Given the description of an element on the screen output the (x, y) to click on. 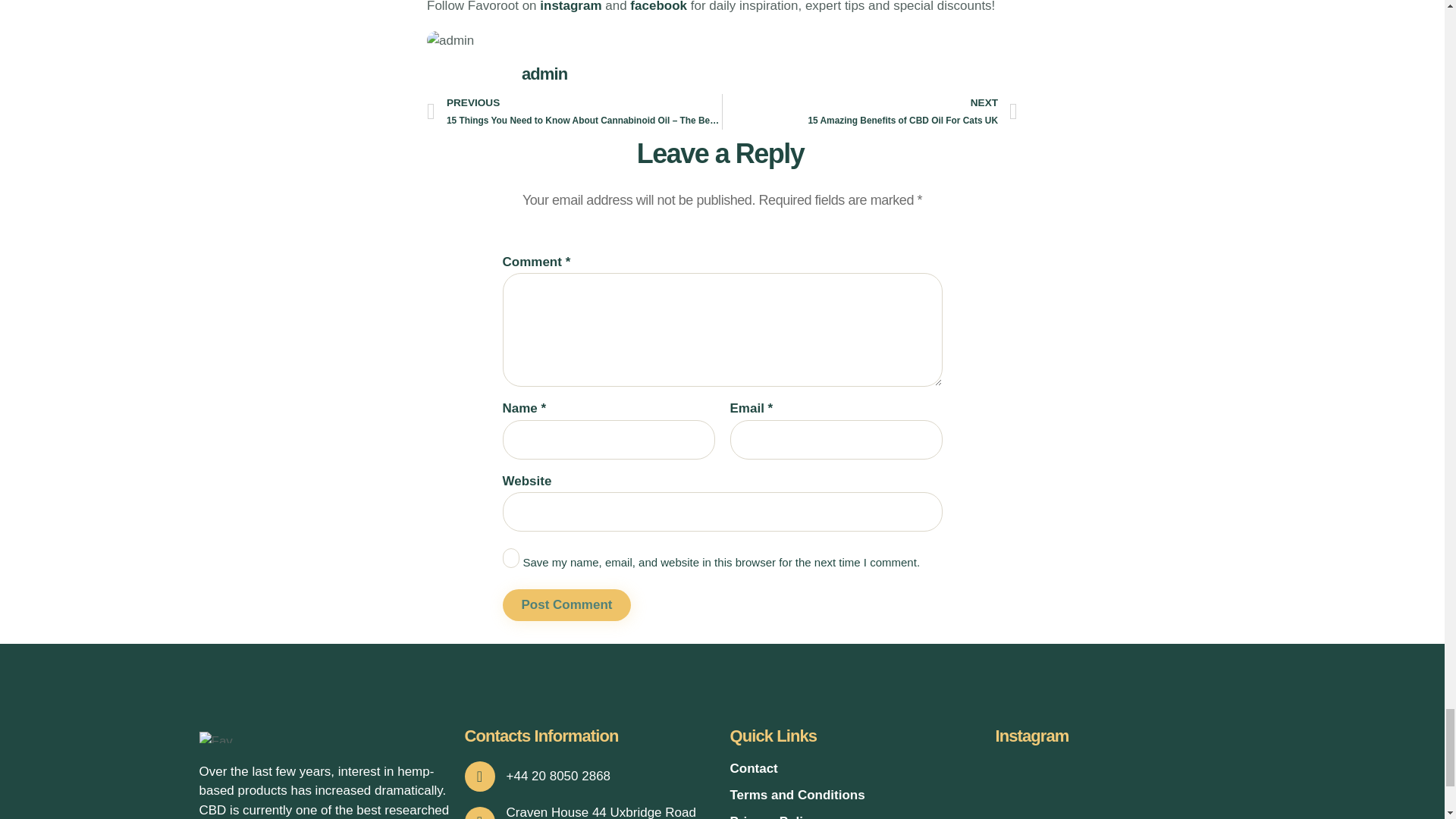
Post Comment (566, 604)
instagram (570, 6)
Post Comment (869, 112)
facebook (566, 604)
Privacy Policy (658, 6)
Contact (854, 816)
Terms and Conditions (854, 768)
